Given the description of an element on the screen output the (x, y) to click on. 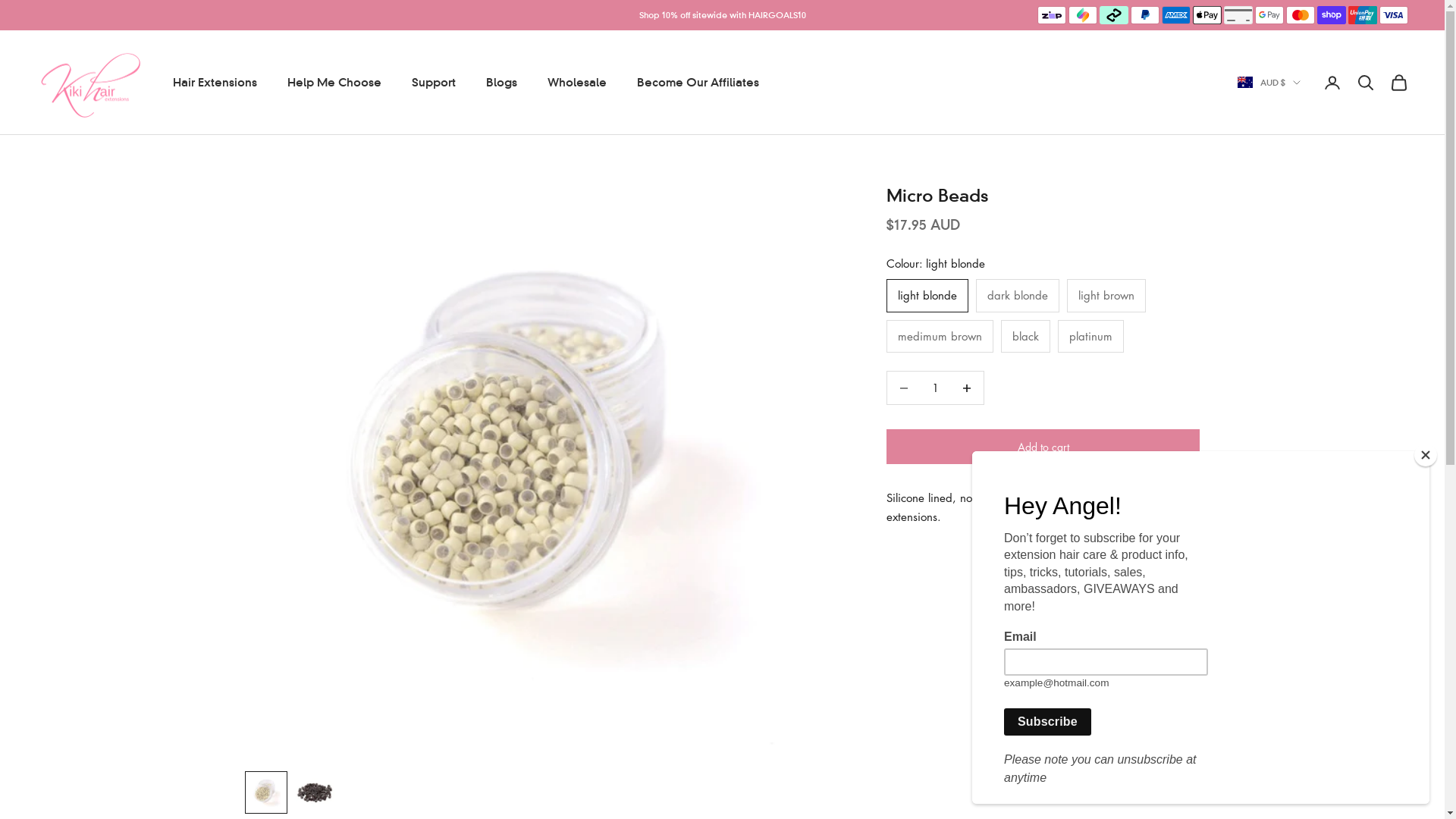
Add to cart Element type: text (1042, 446)
Open cart Element type: text (1399, 82)
Decrease quantity Element type: text (966, 387)
Wholesale Element type: text (576, 82)
Open search Element type: text (1365, 82)
Become Our Affiliates Element type: text (698, 82)
Decrease quantity Element type: text (903, 387)
Open account page Element type: text (1332, 82)
Kiki Hair Extensions Element type: text (89, 81)
AUD $ Element type: text (1268, 82)
